Given the description of an element on the screen output the (x, y) to click on. 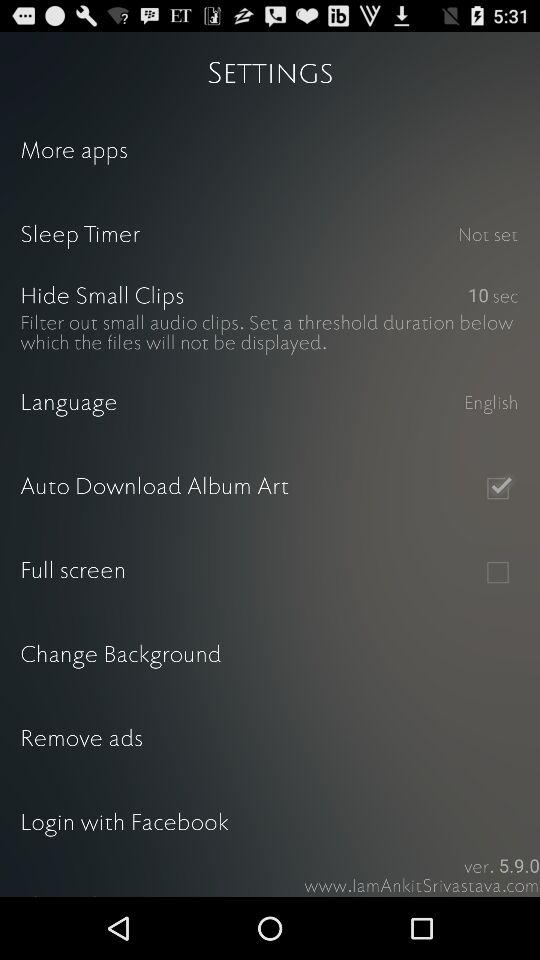
jump until the change background item (270, 656)
